Given the description of an element on the screen output the (x, y) to click on. 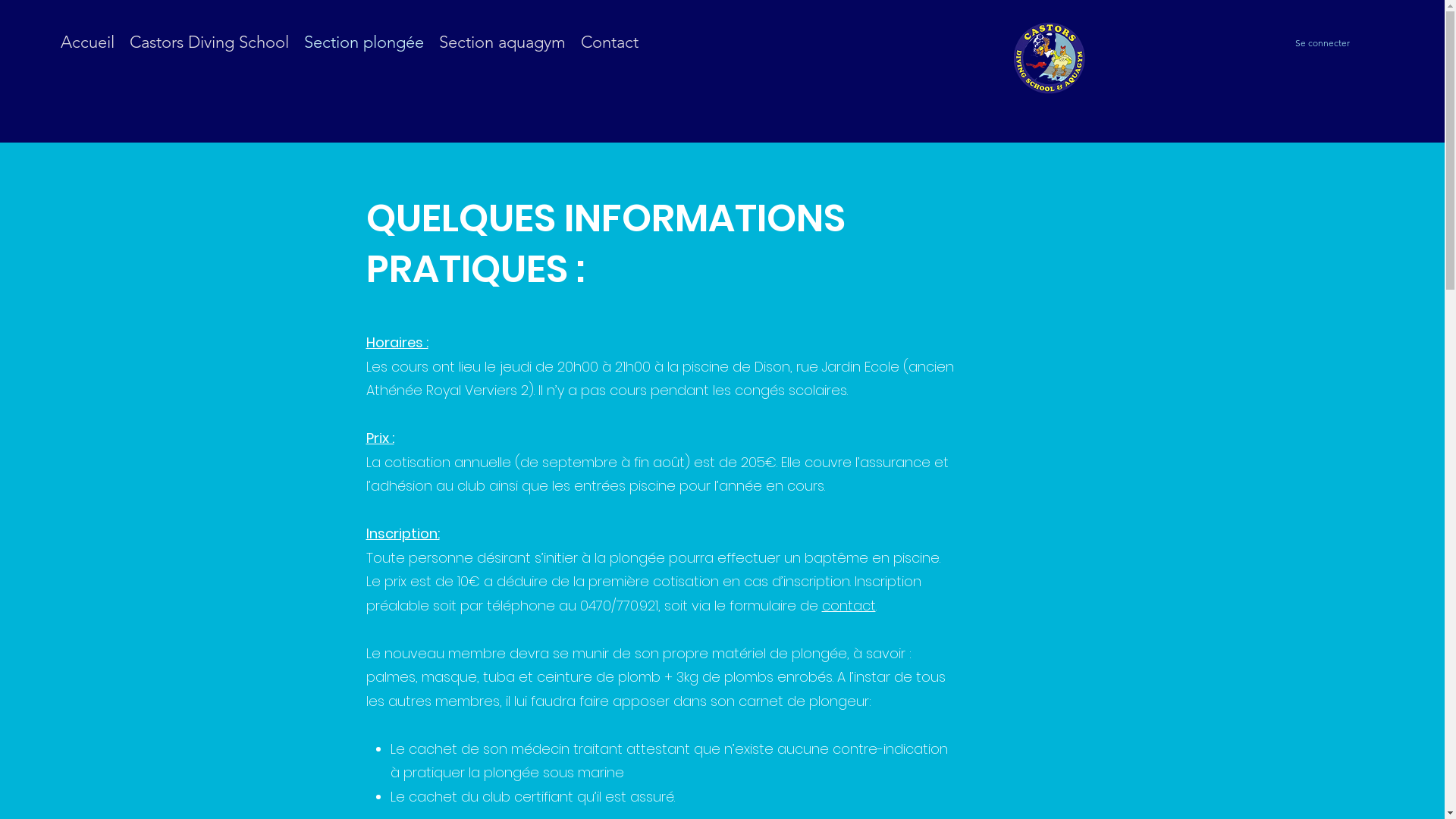
contact Element type: text (848, 605)
Castors Diving School Element type: text (209, 38)
Se connecter Element type: text (1306, 43)
Accueil Element type: text (87, 38)
Section aquagym Element type: text (502, 38)
Contact Element type: text (609, 38)
